Given the description of an element on the screen output the (x, y) to click on. 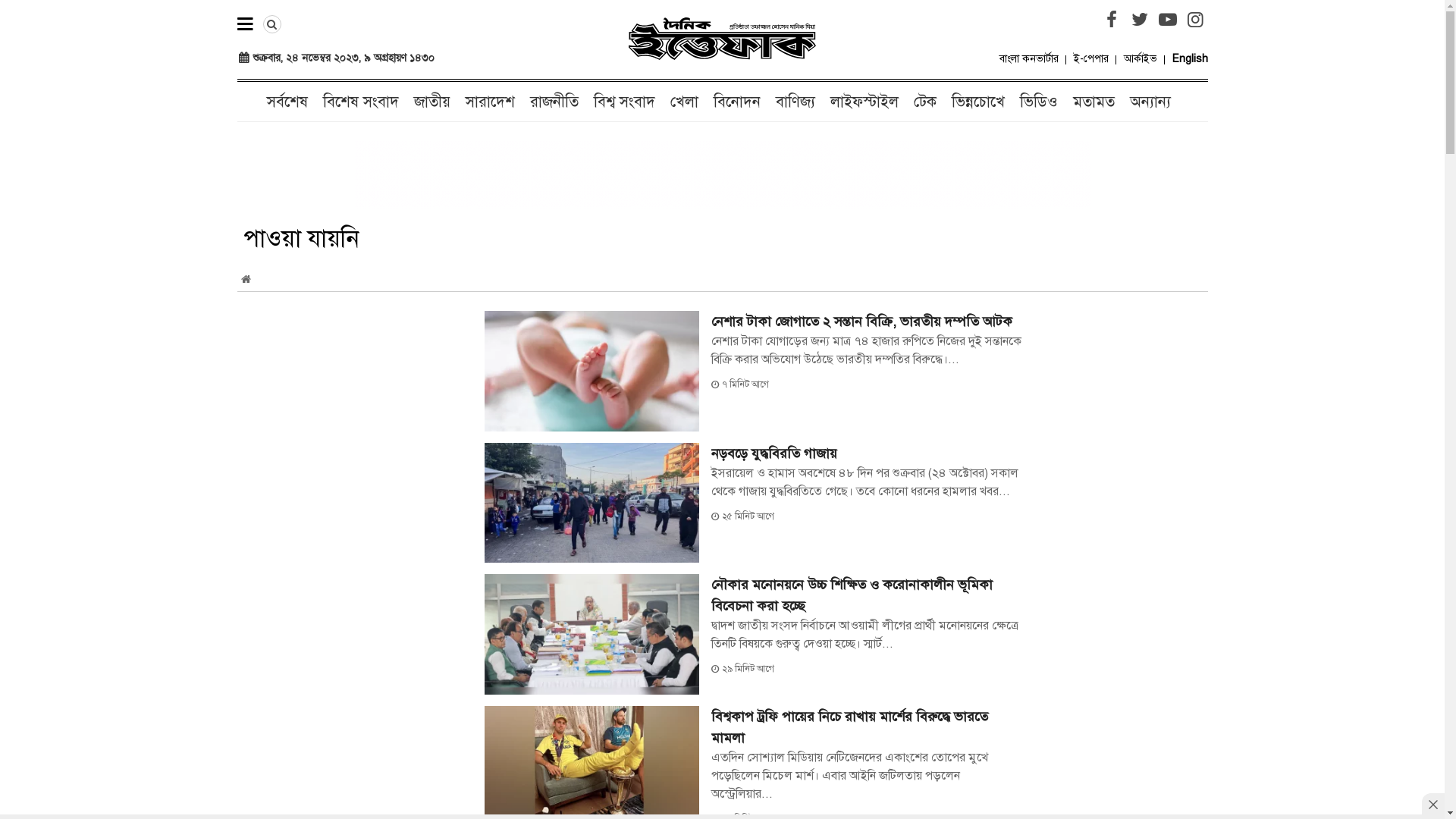
3rd party ad content Element type: hover (722, 174)
Facebook Element type: hover (1111, 19)
English Element type: text (1190, 58)
Twitter Element type: hover (1138, 19)
Instagram Element type: hover (1195, 19)
YouTube Element type: hover (1167, 19)
